Given the description of an element on the screen output the (x, y) to click on. 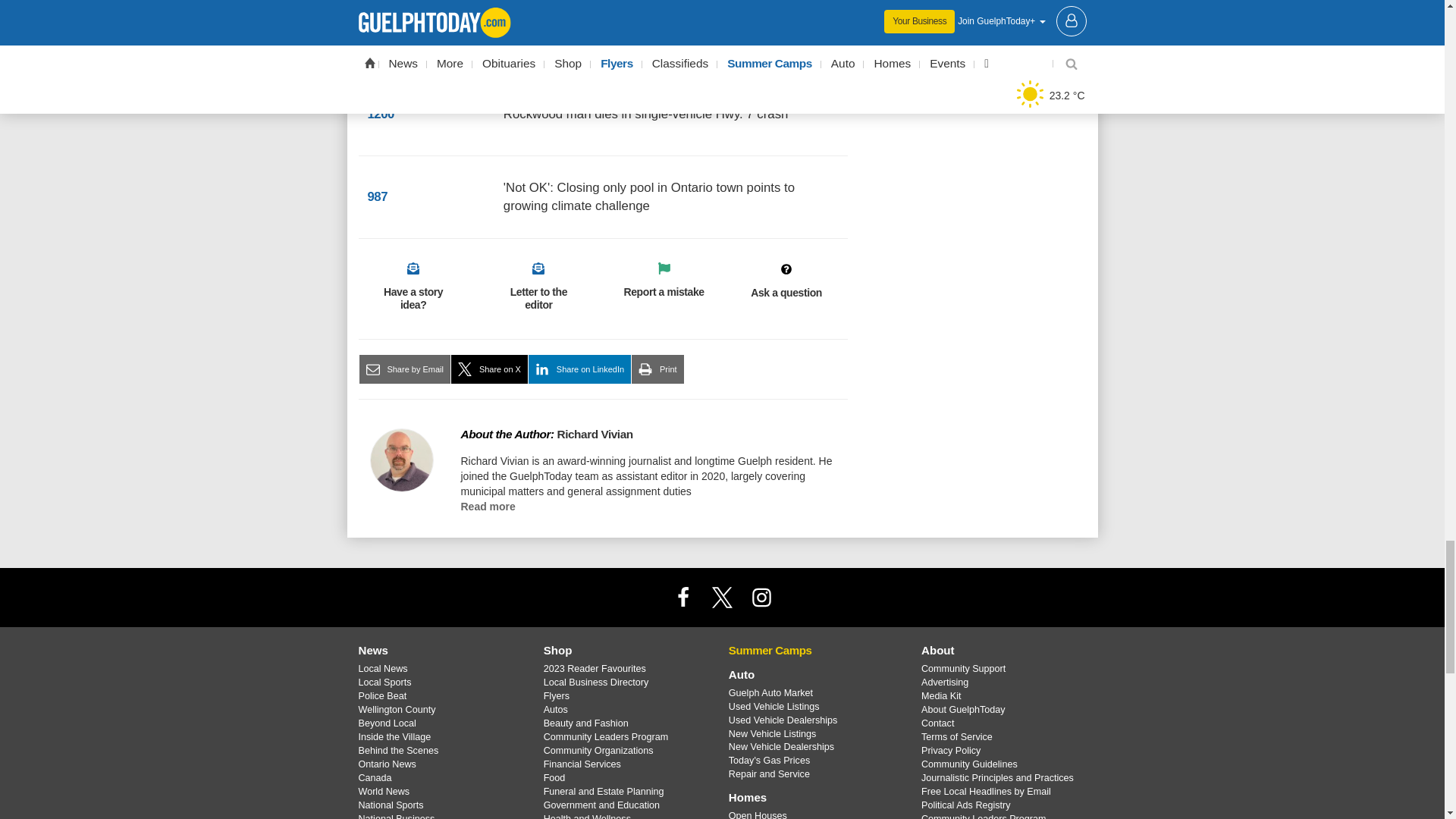
X (721, 597)
Facebook (683, 597)
Instagram (760, 597)
